Given the description of an element on the screen output the (x, y) to click on. 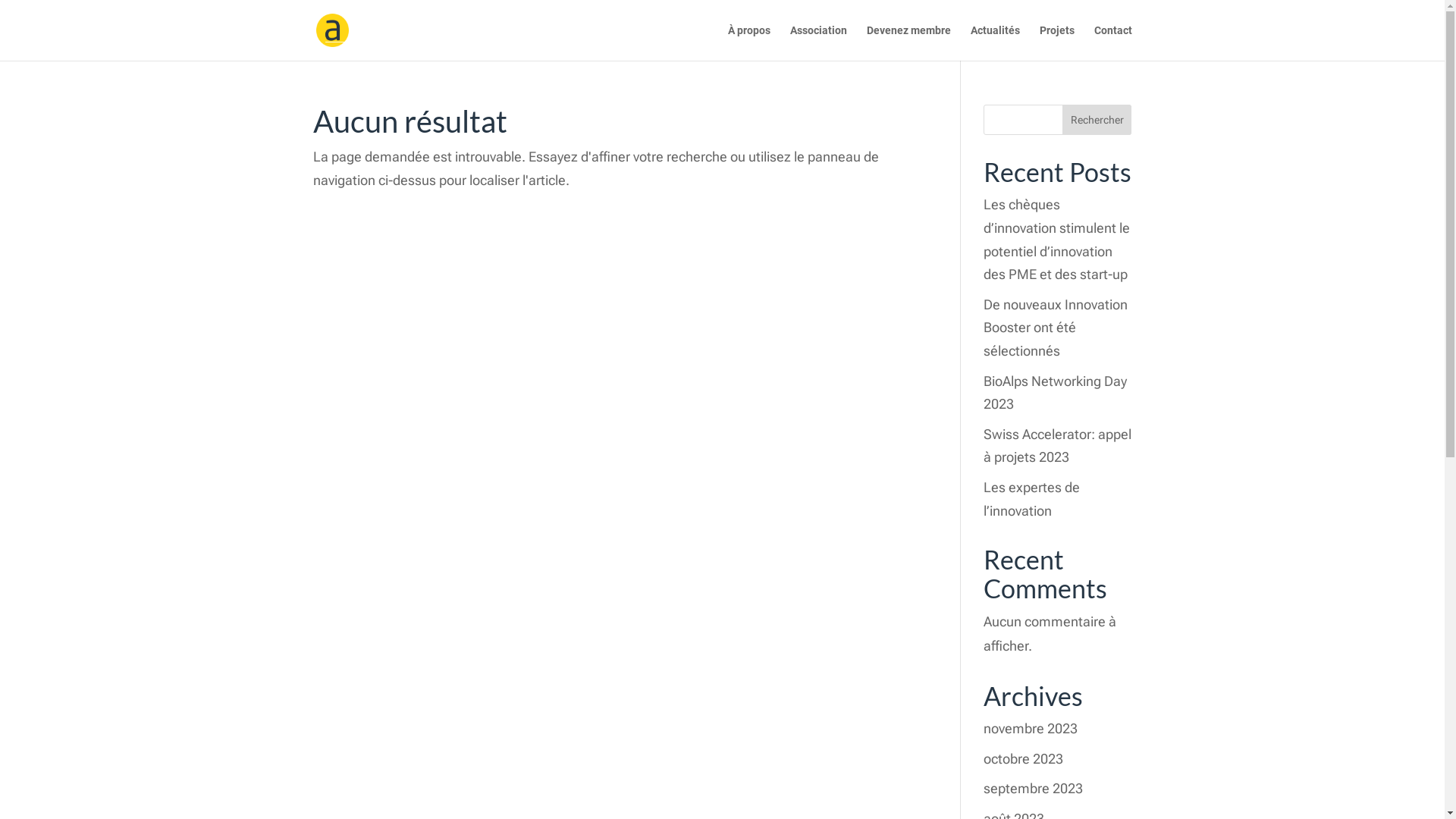
novembre 2023 Element type: text (1030, 728)
octobre 2023 Element type: text (1023, 758)
Contact Element type: text (1112, 42)
Projets Element type: text (1055, 42)
Devenez membre Element type: text (908, 42)
septembre 2023 Element type: text (1032, 788)
Rechercher Element type: text (1097, 119)
BioAlps Networking Day 2023 Element type: text (1054, 392)
Association Element type: text (818, 42)
